Given the description of an element on the screen output the (x, y) to click on. 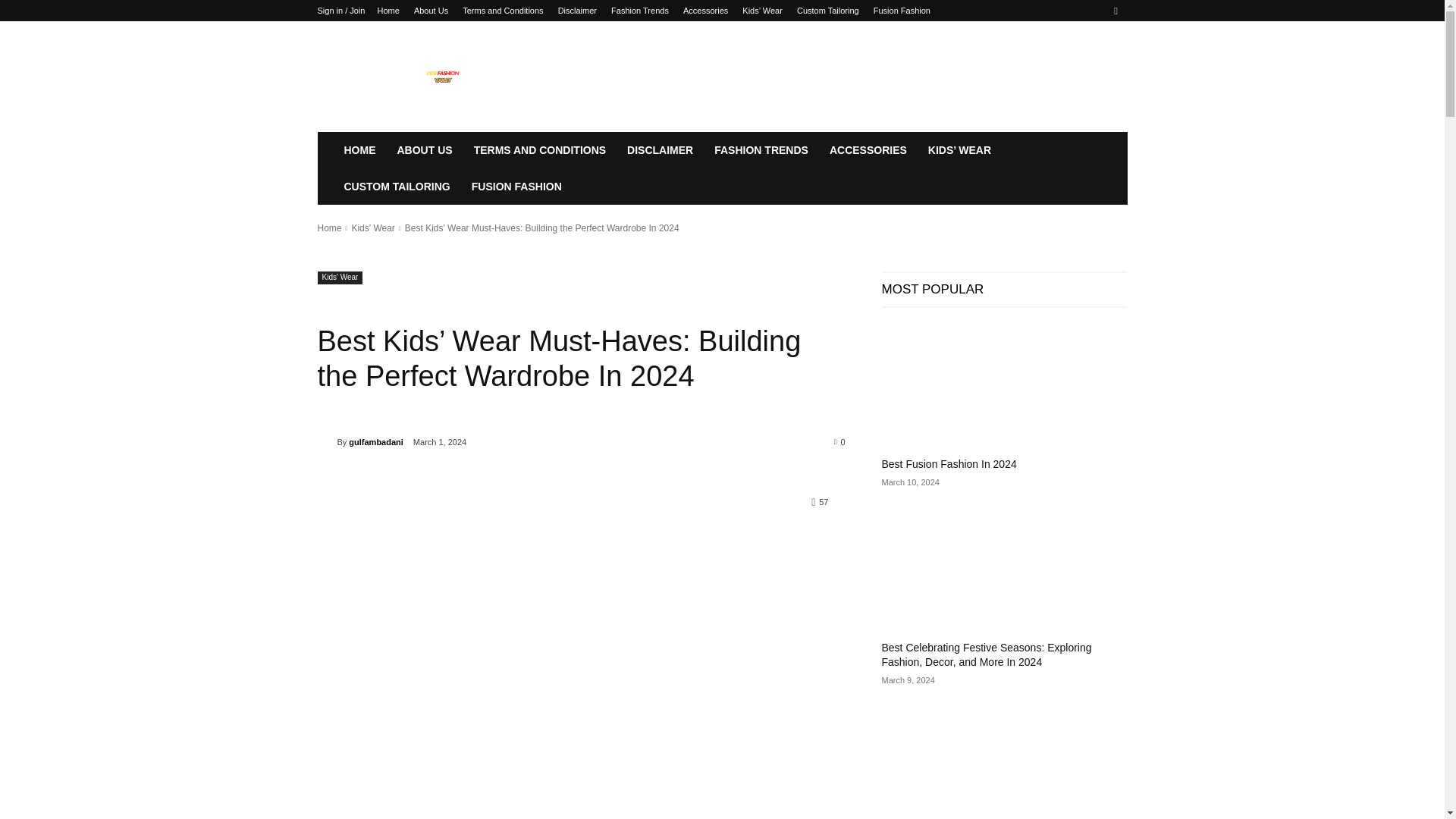
About Us (430, 10)
Accessories (705, 10)
FASHION TRENDS (760, 149)
DISCLAIMER (659, 149)
Custom Tailoring (827, 10)
Search (1085, 64)
View all posts in Kids' Wear (372, 227)
gulfambadani (326, 441)
Home (387, 10)
CUSTOM TAILORING (397, 186)
Disclaimer (576, 10)
FUSION FASHION (516, 186)
ABOUT US (425, 149)
TERMS AND CONDITIONS (539, 149)
Terms and Conditions (503, 10)
